Given the description of an element on the screen output the (x, y) to click on. 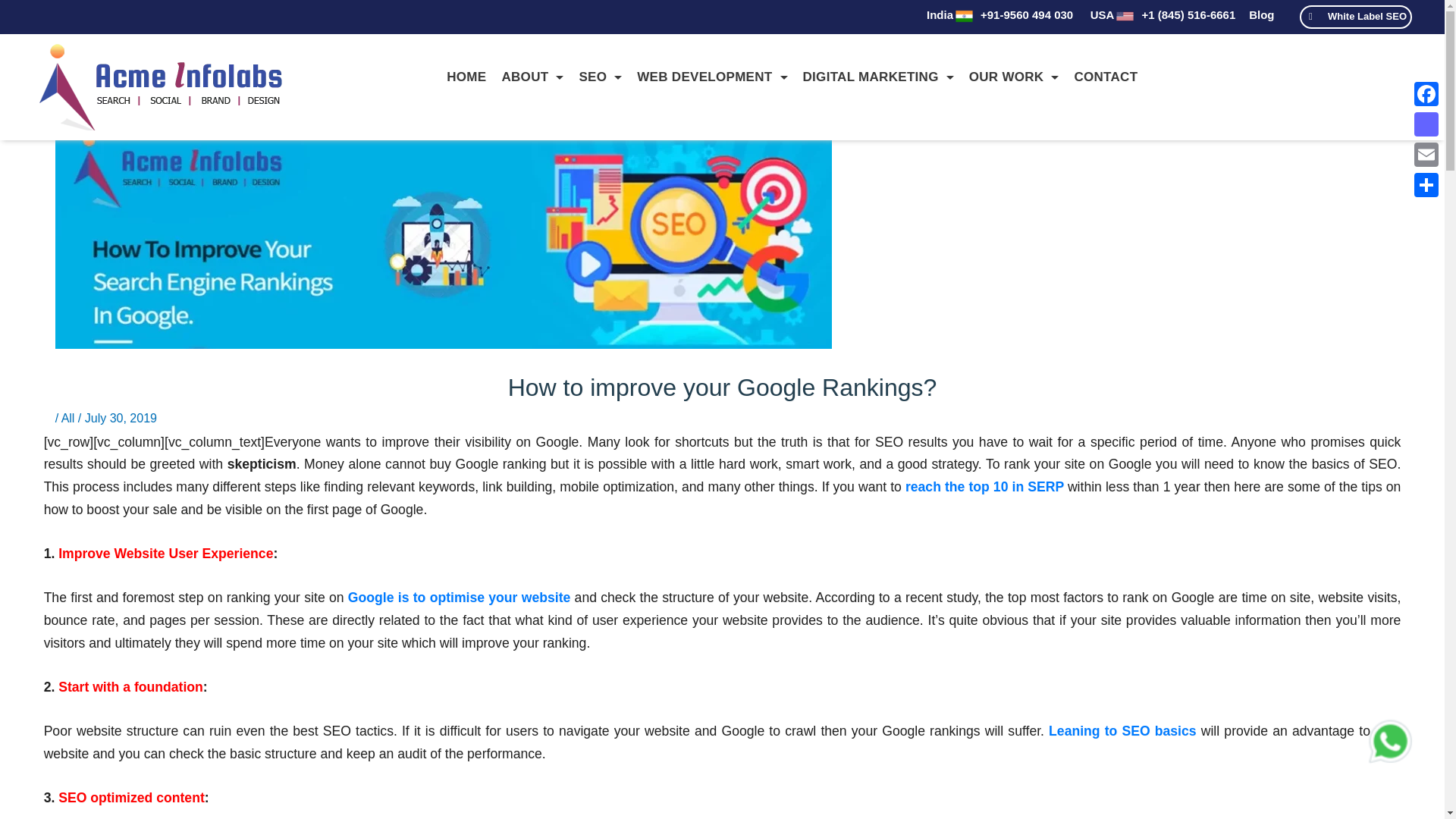
Blog (1261, 14)
SEO (599, 76)
About Acme Infolabs Digital Marketing Company (531, 76)
White Label SEO (1355, 16)
Digital Marketing Company (160, 85)
HOME (466, 76)
SEO Resellers Programs India (1355, 16)
Digital Marketing Agency (466, 76)
ABOUT (531, 76)
Our Latest Blog Posts (1261, 14)
